Given the description of an element on the screen output the (x, y) to click on. 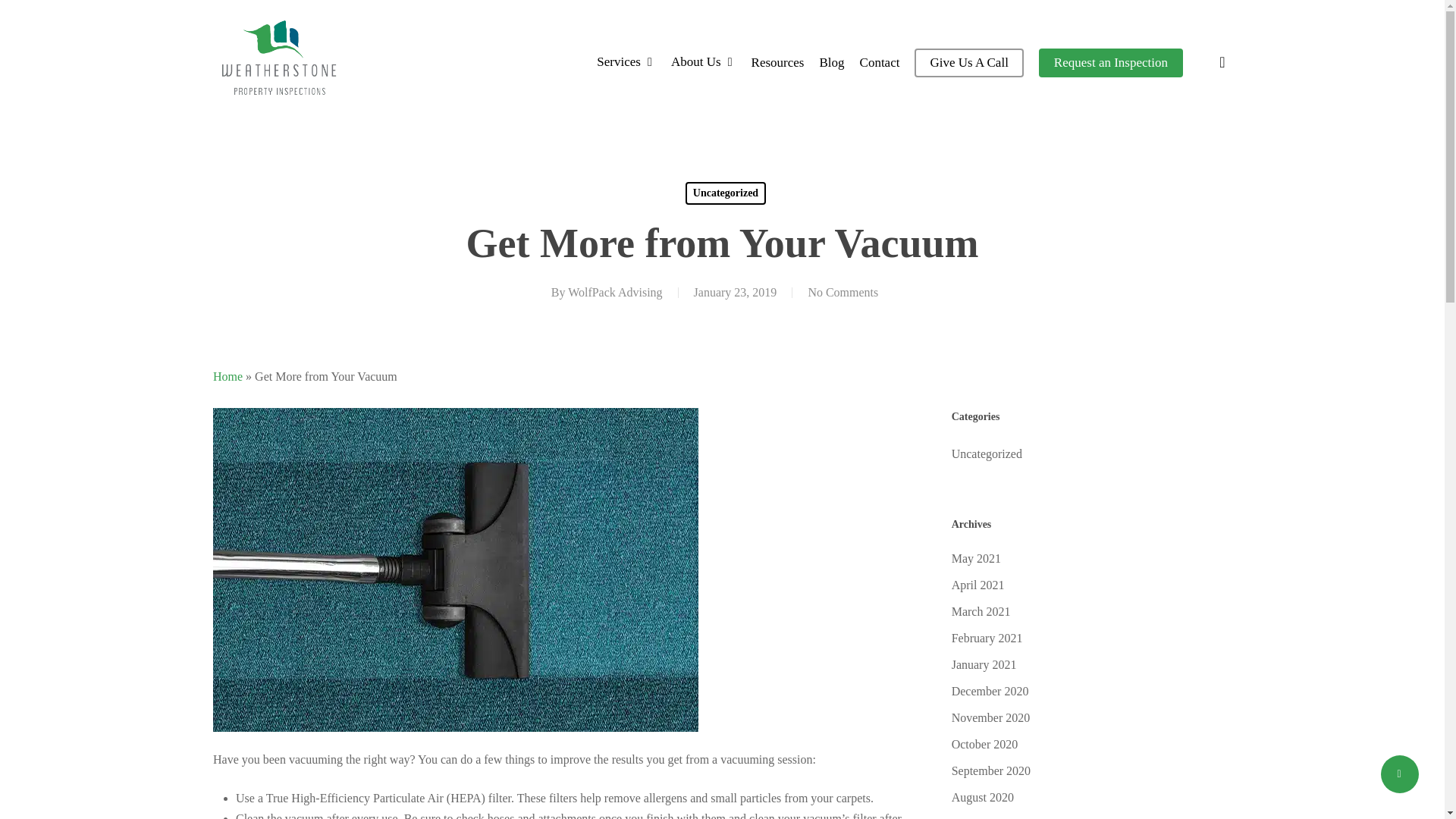
No Comments (842, 291)
Give Us A Call (968, 62)
January 2021 (1091, 664)
September 2020 (1091, 770)
About Us (703, 61)
Contact (879, 62)
Resources (778, 62)
November 2020 (1091, 717)
Uncategorized (725, 192)
October 2020 (1091, 743)
Blog (831, 62)
WolfPack Advising (614, 291)
Request an Inspection (1110, 62)
July 2020 (1091, 816)
search (1221, 62)
